Given the description of an element on the screen output the (x, y) to click on. 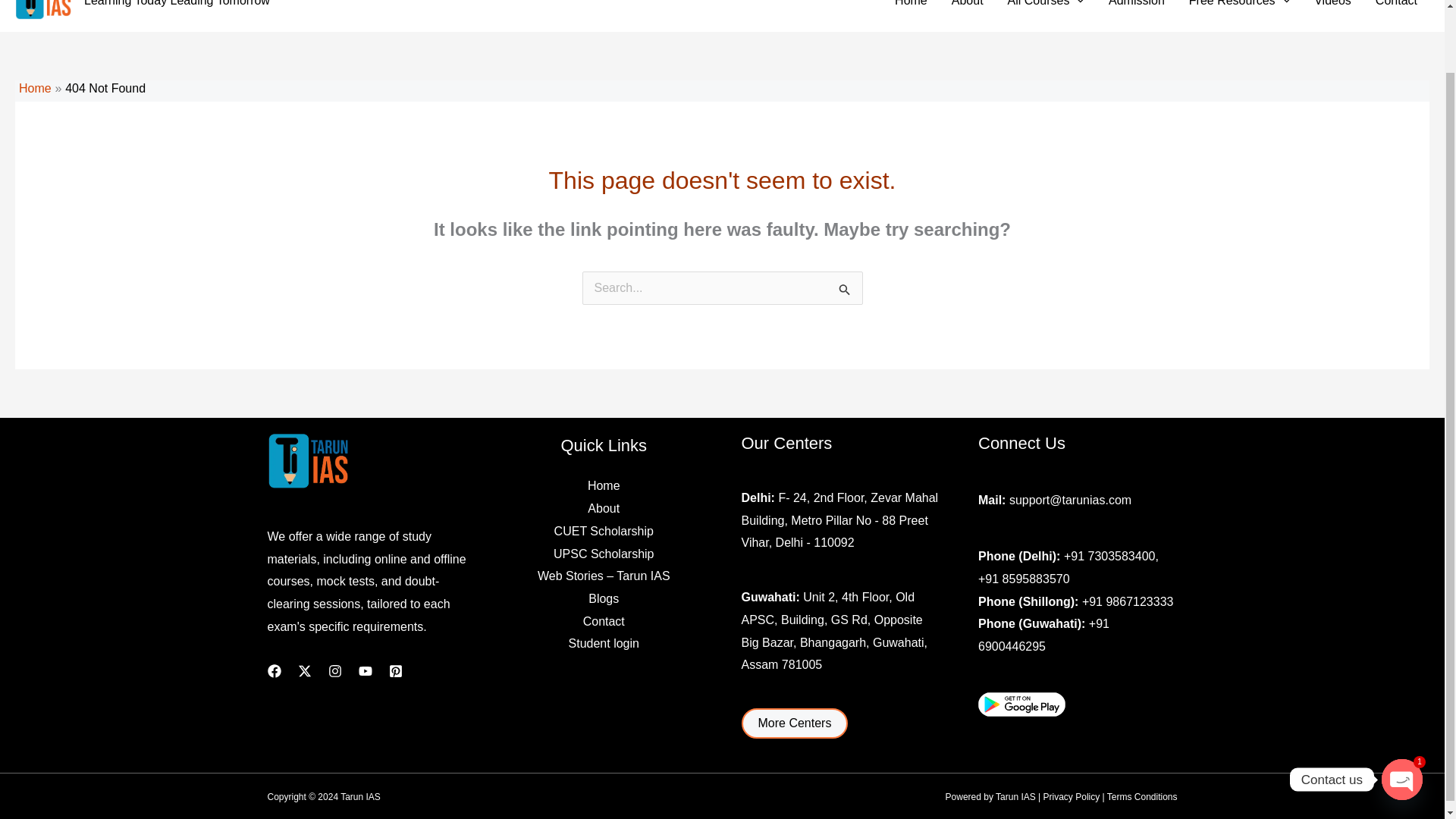
Contact (1395, 6)
Home (34, 88)
Admission (1136, 6)
Free Resources (1238, 6)
Search (844, 292)
Search (844, 292)
Search (844, 292)
Videos (1331, 6)
Home (910, 6)
All Courses (1045, 6)
About (967, 6)
